Given the description of an element on the screen output the (x, y) to click on. 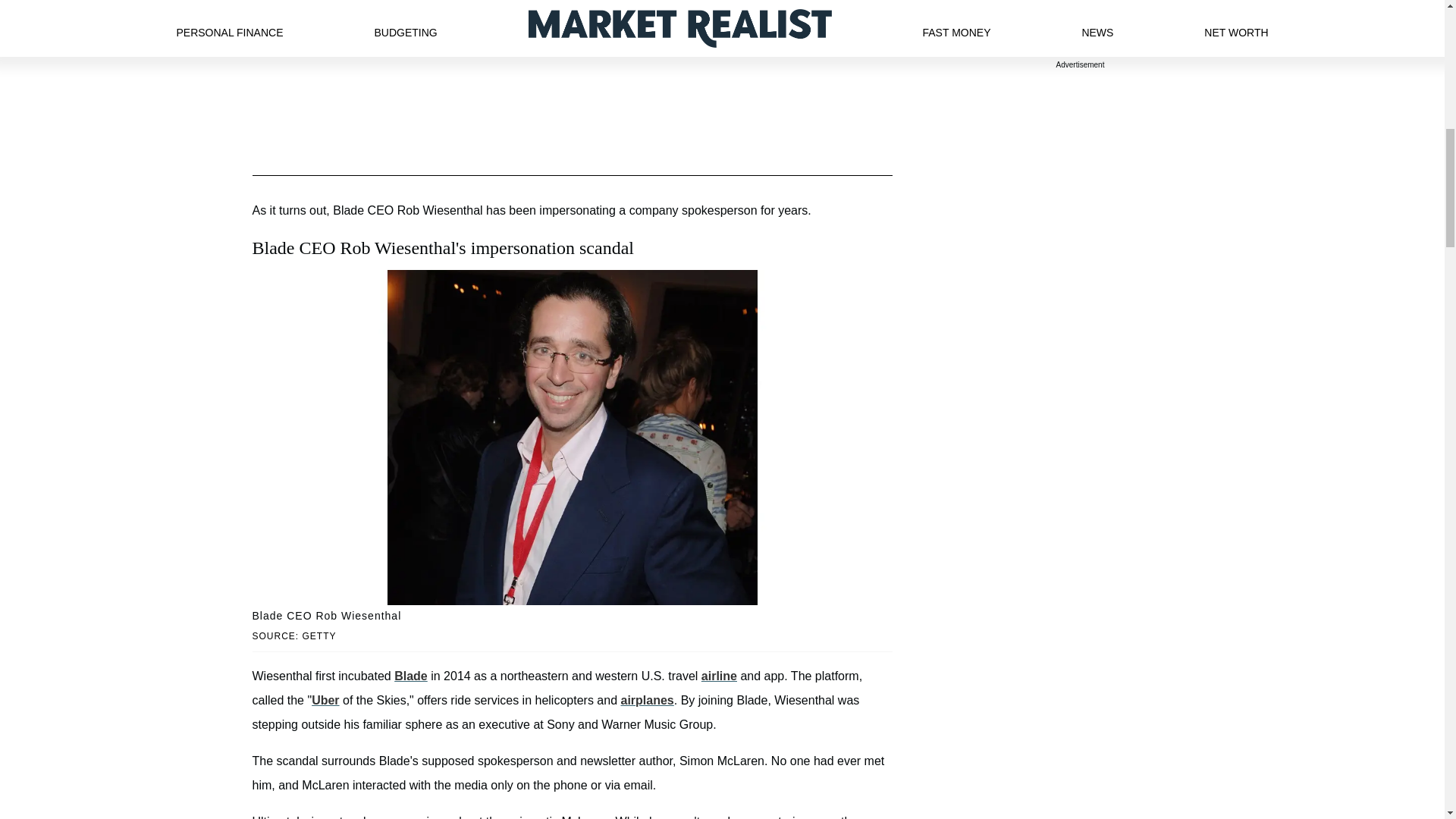
airplanes (646, 699)
Blade (411, 675)
SOURCE: GETTY (571, 636)
Uber (325, 699)
airline (718, 675)
